Given the description of an element on the screen output the (x, y) to click on. 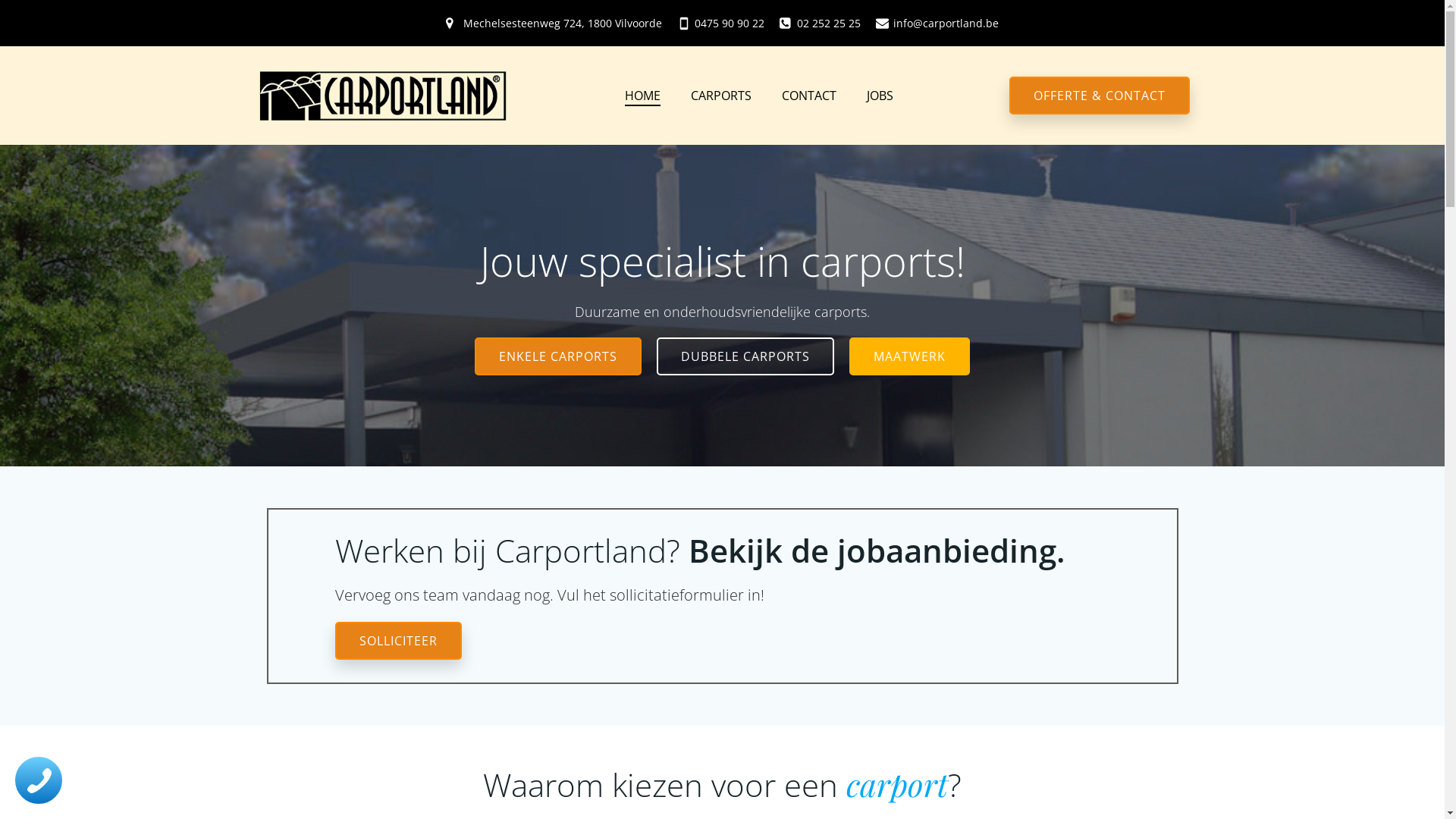
JOBS Element type: text (879, 95)
02 252 25 25 Element type: text (819, 22)
info@carportland.be Element type: text (936, 22)
HOME Element type: text (642, 95)
MAATWERK Element type: text (909, 356)
0475 90 90 22 Element type: text (720, 22)
DUBBELE CARPORTS Element type: text (745, 356)
Mechelsesteenweg 724, 1800 Vilvoorde Element type: text (553, 22)
ENKELE CARPORTS Element type: text (557, 356)
SOLLICITEER Element type: text (398, 640)
CONTACT Element type: text (808, 95)
OFFERTE & CONTACT Element type: text (1098, 95)
CARPORTS Element type: text (720, 95)
